Given the description of an element on the screen output the (x, y) to click on. 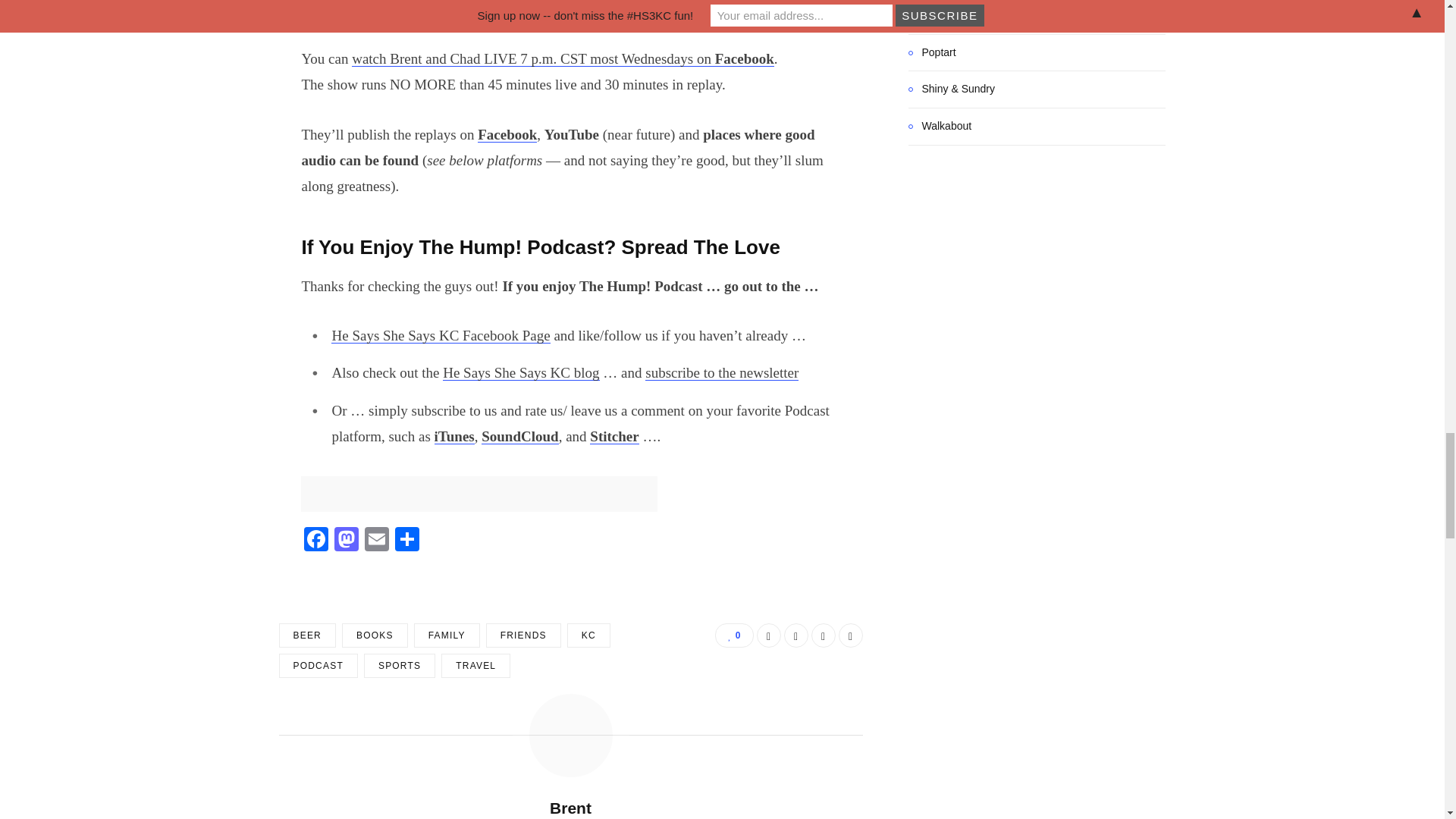
facebook (318, 493)
He Says She Says KC Facebook Page (440, 335)
He Says She Says KC blog (520, 372)
subscribe to the newsletter (721, 372)
iTunes (453, 436)
Facebook (507, 134)
